Given the description of an element on the screen output the (x, y) to click on. 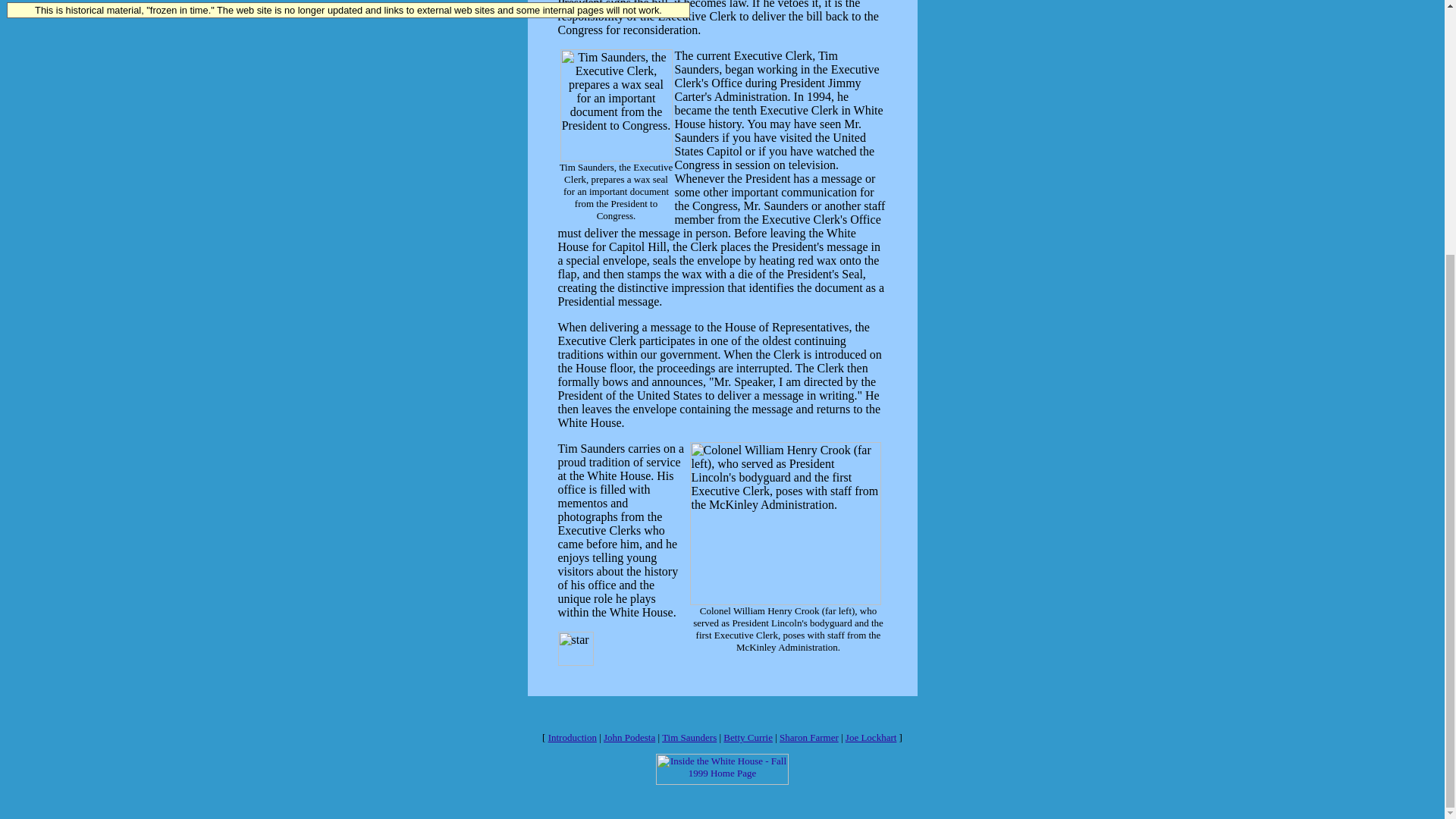
John Podesta (629, 737)
Tim Saunders (689, 737)
Introduction (572, 737)
Sharon Farmer (808, 737)
Joe Lockhart (870, 737)
Betty Currie (748, 737)
